Given the description of an element on the screen output the (x, y) to click on. 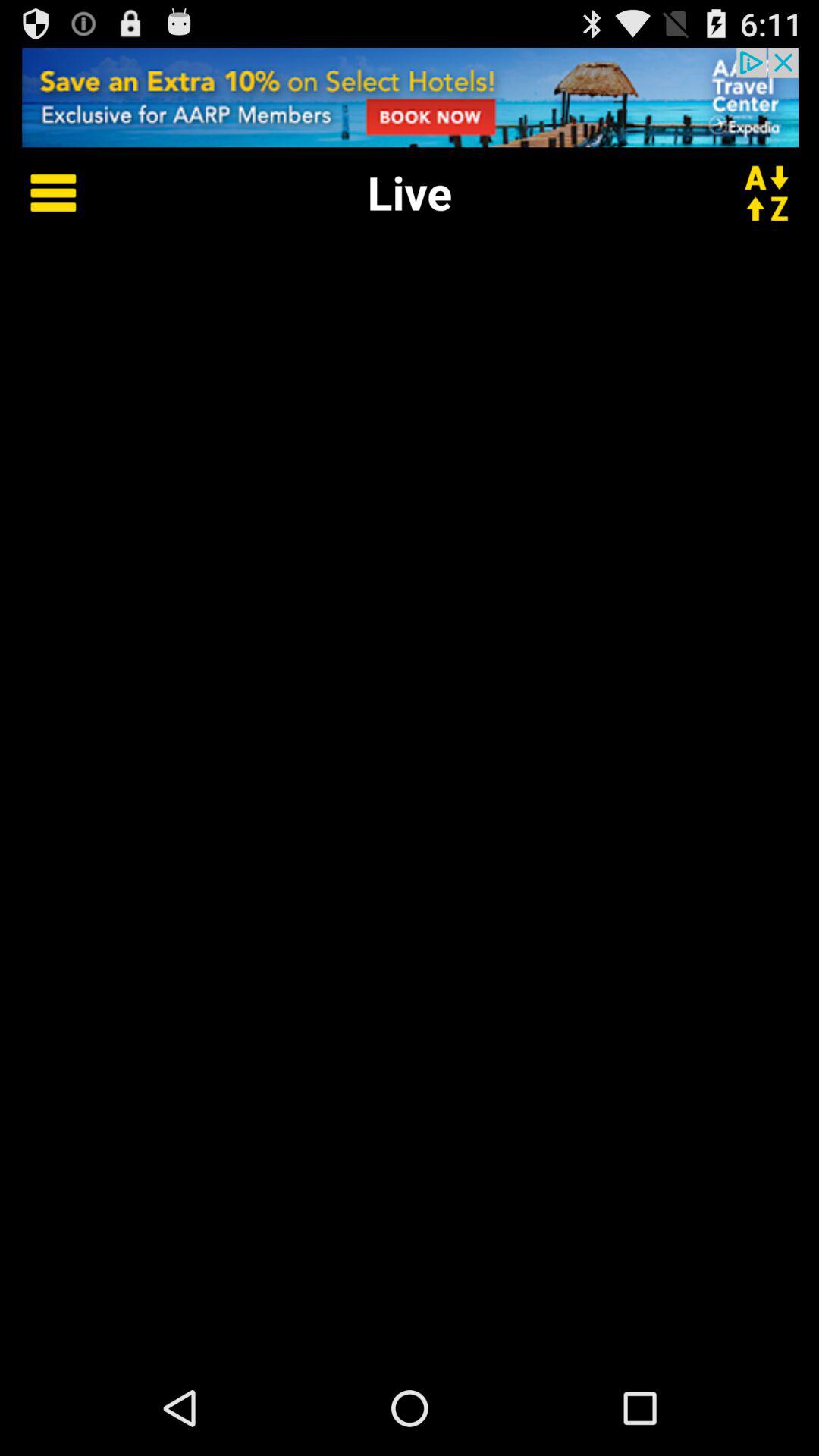
view menu (42, 192)
